Given the description of an element on the screen output the (x, y) to click on. 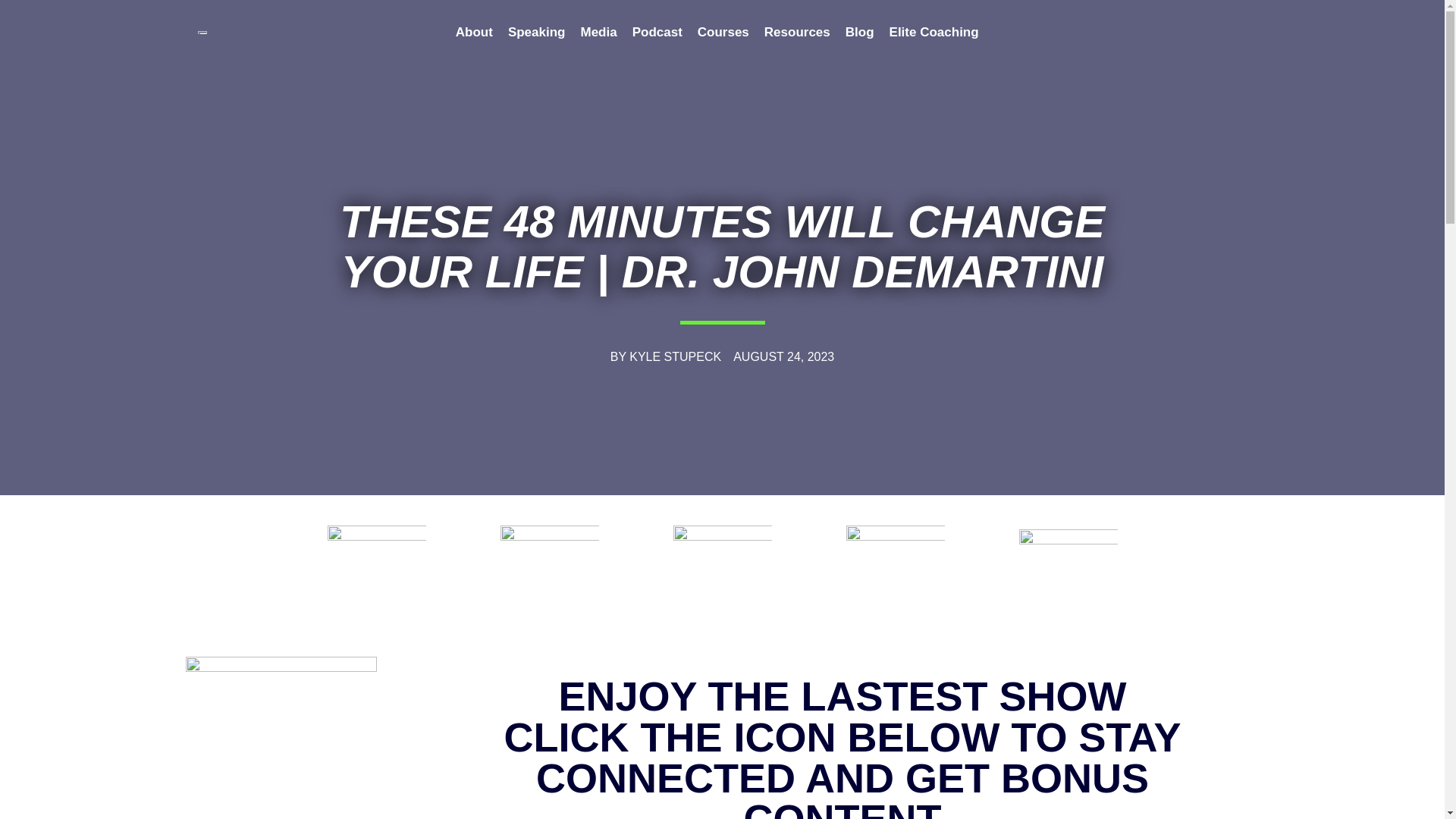
Media (598, 31)
Blog (860, 31)
Elite Coaching (934, 31)
Speaking (536, 31)
AUGUST 24, 2023 (783, 357)
Resources (797, 31)
Courses (723, 31)
BY KYLE STUPECK (665, 357)
Podcast (657, 31)
About (474, 31)
